Given the description of an element on the screen output the (x, y) to click on. 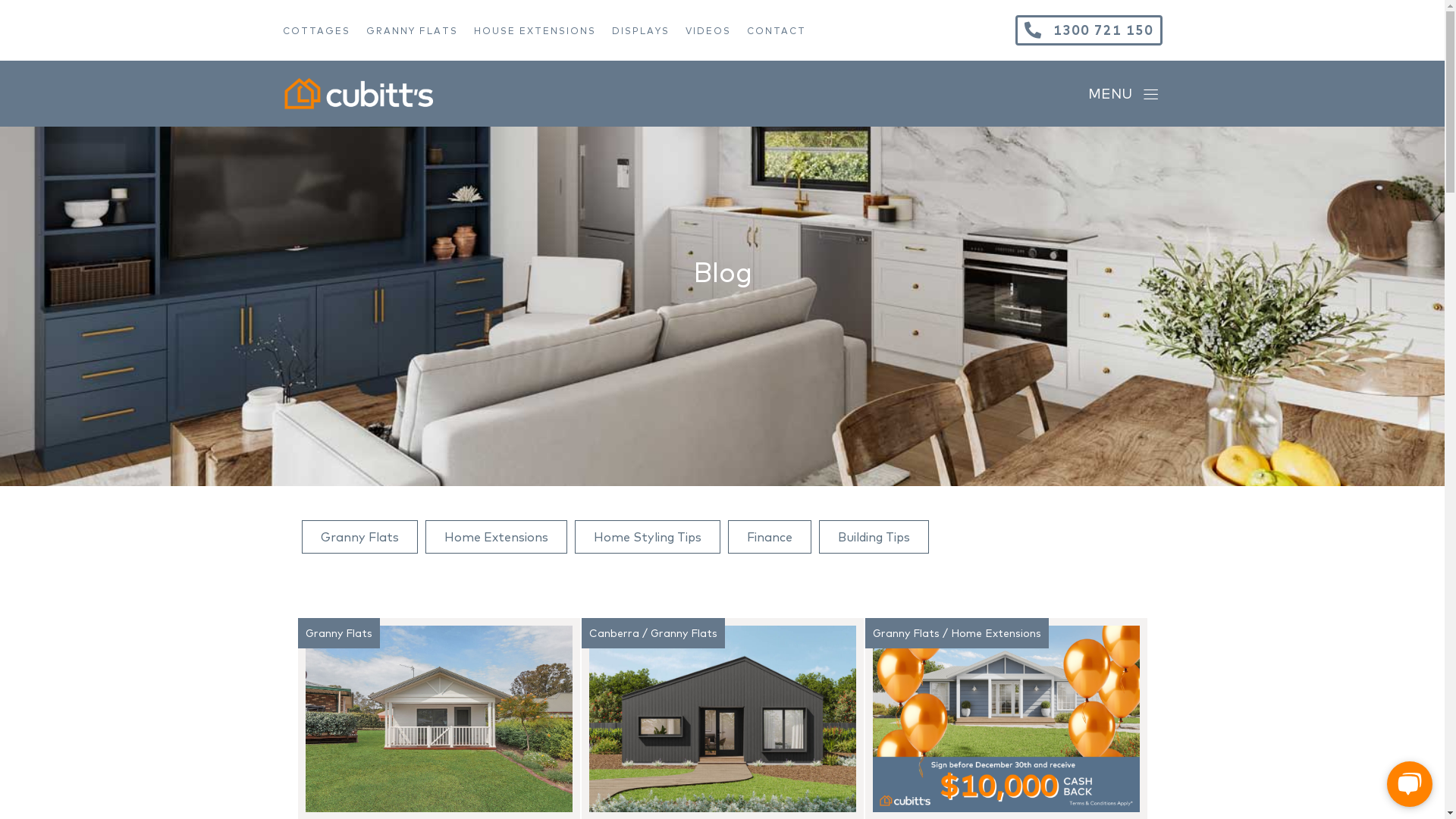
Granny Flats Element type: text (905, 633)
2023 End of Year Offer Element type: hover (1005, 718)
Home Styling Tips Element type: text (647, 536)
Building Tips Element type: text (873, 536)
Windview Contemporary 300DPI Element type: hover (721, 718)
GRANNY FLATS Element type: text (419, 30)
Home Extensions Element type: text (995, 633)
Canberra Element type: text (613, 633)
Granny Flats Element type: text (337, 633)
VIDEOS Element type: text (715, 30)
MENU Element type: text (1122, 93)
Granny Flats Element type: text (359, 536)
HOUSE EXTENSIONS Element type: text (542, 30)
CONTACT Element type: text (783, 30)
Home Extensions Element type: text (495, 536)
Finance Element type: text (769, 536)
Submit Element type: text (852, 551)
CUB_Primary_Logo_Reverse_RGB_1200px Element type: hover (357, 93)
DISPLAYS Element type: text (647, 30)
COTTAGES Element type: text (323, 30)
Granny Flats Element type: text (683, 633)
4Komirra-18 Element type: hover (437, 718)
1300 721 150 Element type: text (1087, 30)
